Given the description of an element on the screen output the (x, y) to click on. 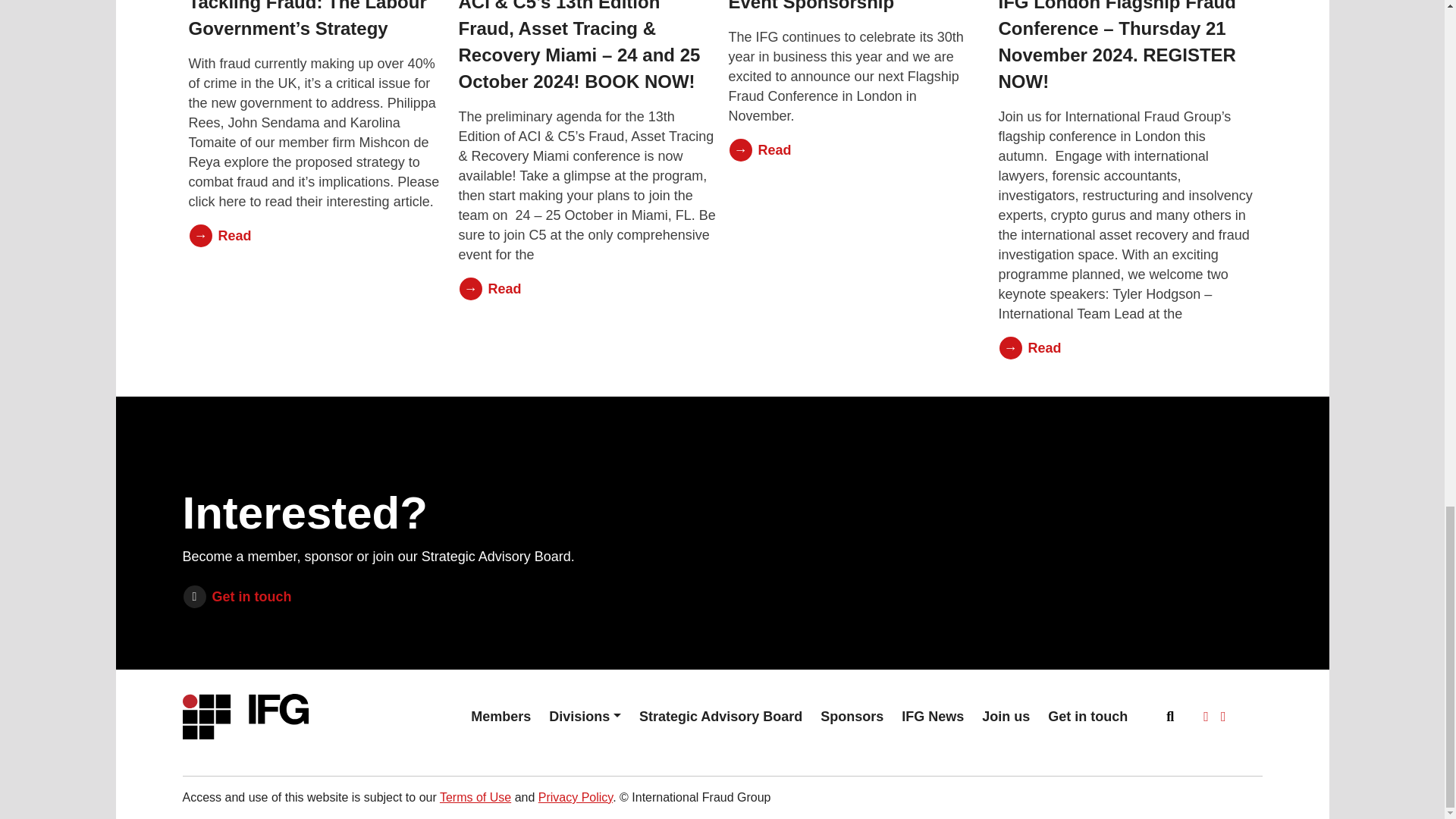
Read (316, 235)
Read (587, 288)
Members (500, 716)
Divisions (585, 716)
Read (1126, 347)
Read (856, 150)
Get in touch (380, 596)
Members (500, 716)
Divisions (585, 716)
